Given the description of an element on the screen output the (x, y) to click on. 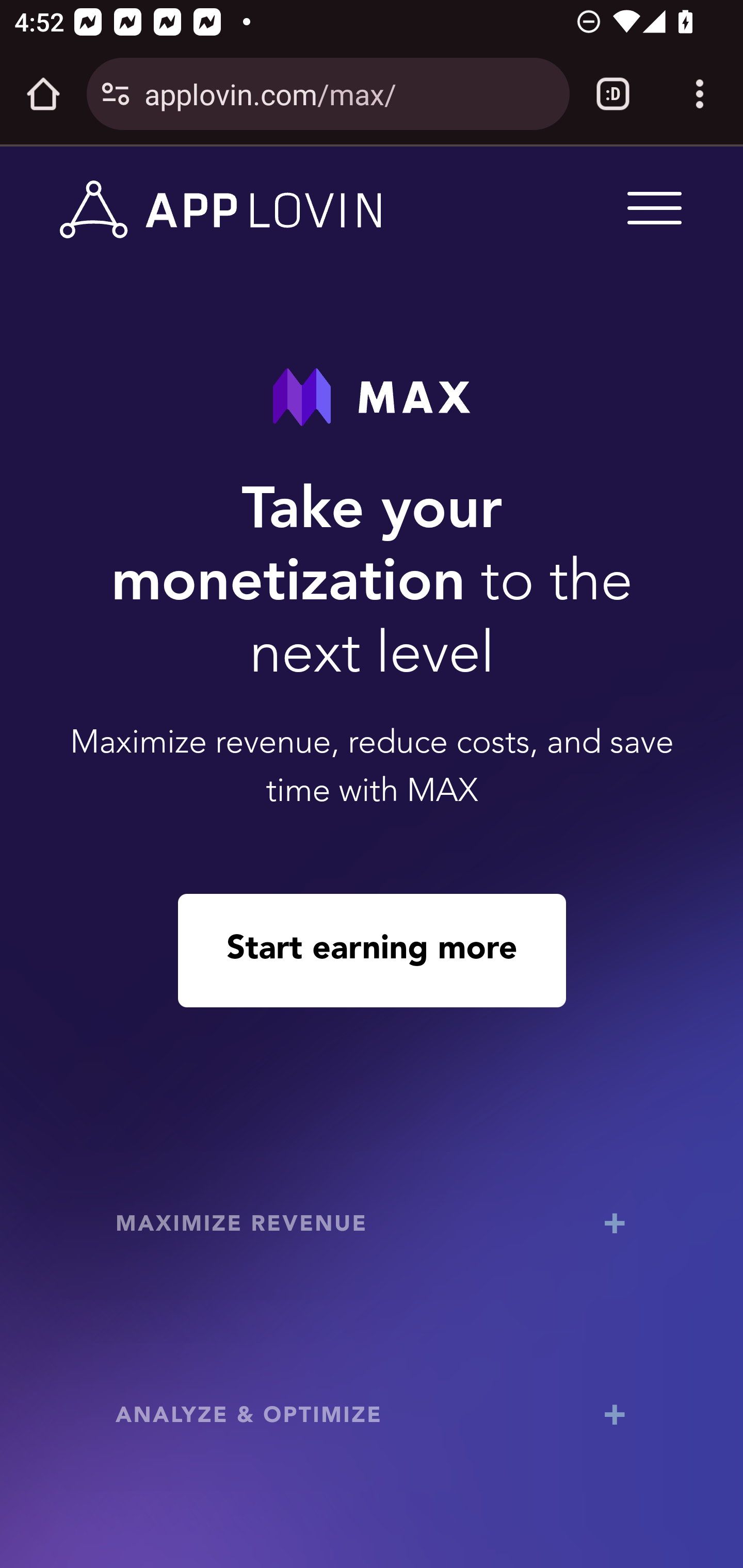
Open the home page (43, 93)
Connection is secure (115, 93)
Switch or close tabs (612, 93)
Customize and control Google Chrome (699, 93)
applovin.com/max/ (349, 92)
Menu Trigger (650, 207)
www.applovin (220, 209)
Start earning more (371, 950)
